Given the description of an element on the screen output the (x, y) to click on. 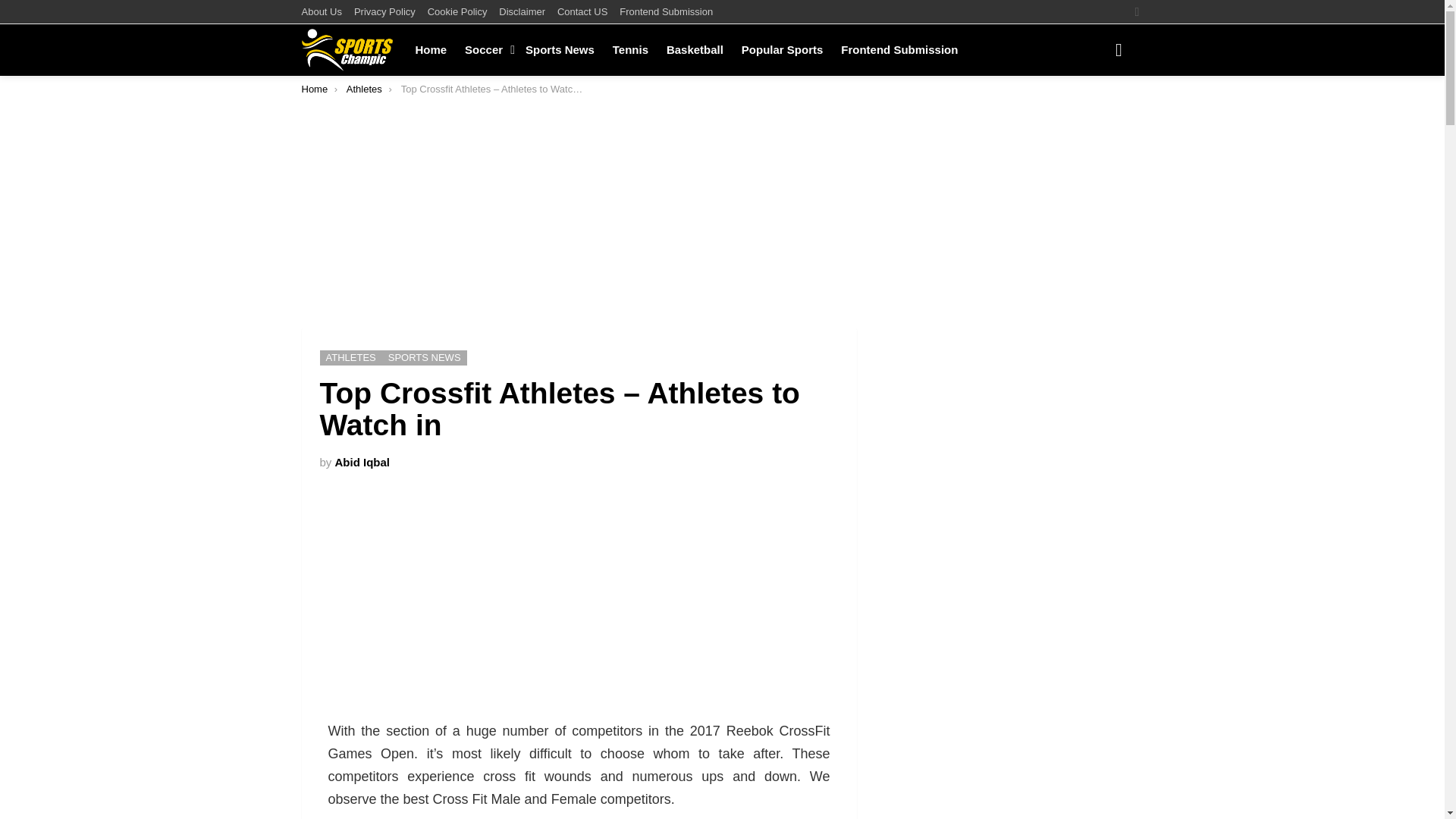
Posts by Abid Iqbal (362, 461)
Frontend Submission (898, 49)
Frontend Submission (666, 12)
Cookie Policy (457, 12)
Disclaimer (521, 12)
Privacy Policy (383, 12)
SPORTS NEWS (424, 357)
Advertisement (578, 607)
Abid Iqbal (362, 461)
Athletes (363, 89)
Tennis (630, 49)
Home (315, 89)
Home (430, 49)
Popular Sports (782, 49)
About Us (321, 12)
